Given the description of an element on the screen output the (x, y) to click on. 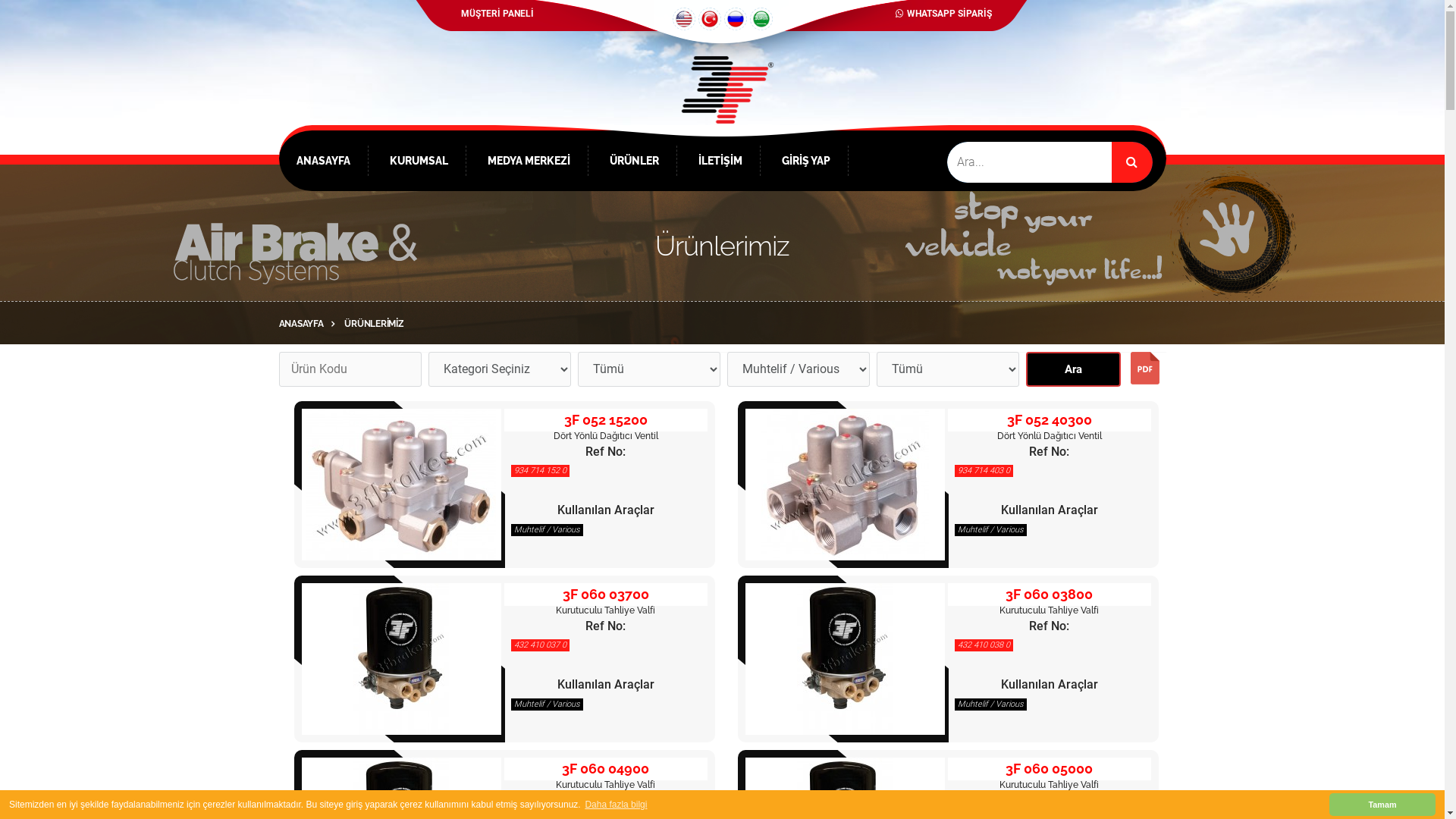
MEDYA MERKEZI Element type: text (527, 160)
ANASAYFA Element type: text (310, 323)
3F 052 40300 Element type: hover (844, 484)
TR Element type: hover (708, 18)
3F 052 15200 Element type: text (605, 419)
3F 052 15200 Element type: hover (400, 484)
Tamam Element type: text (1382, 804)
3F 052 40300 Element type: text (1049, 419)
3F 060 03800 Element type: text (1048, 594)
3F 060 03800 Element type: hover (844, 658)
Ara Element type: text (1072, 368)
AR Element type: hover (760, 18)
3F 060 03700 Element type: hover (400, 658)
ANASAYFA Element type: text (322, 160)
3F 060 05000 Element type: text (1048, 768)
3F 060 04900 Element type: text (605, 768)
Daha fazla bilgi Element type: text (616, 804)
EN Element type: hover (682, 18)
RU Element type: hover (734, 18)
3F 060 03700 Element type: text (605, 594)
KURUMSAL Element type: text (418, 160)
